Given the description of an element on the screen output the (x, y) to click on. 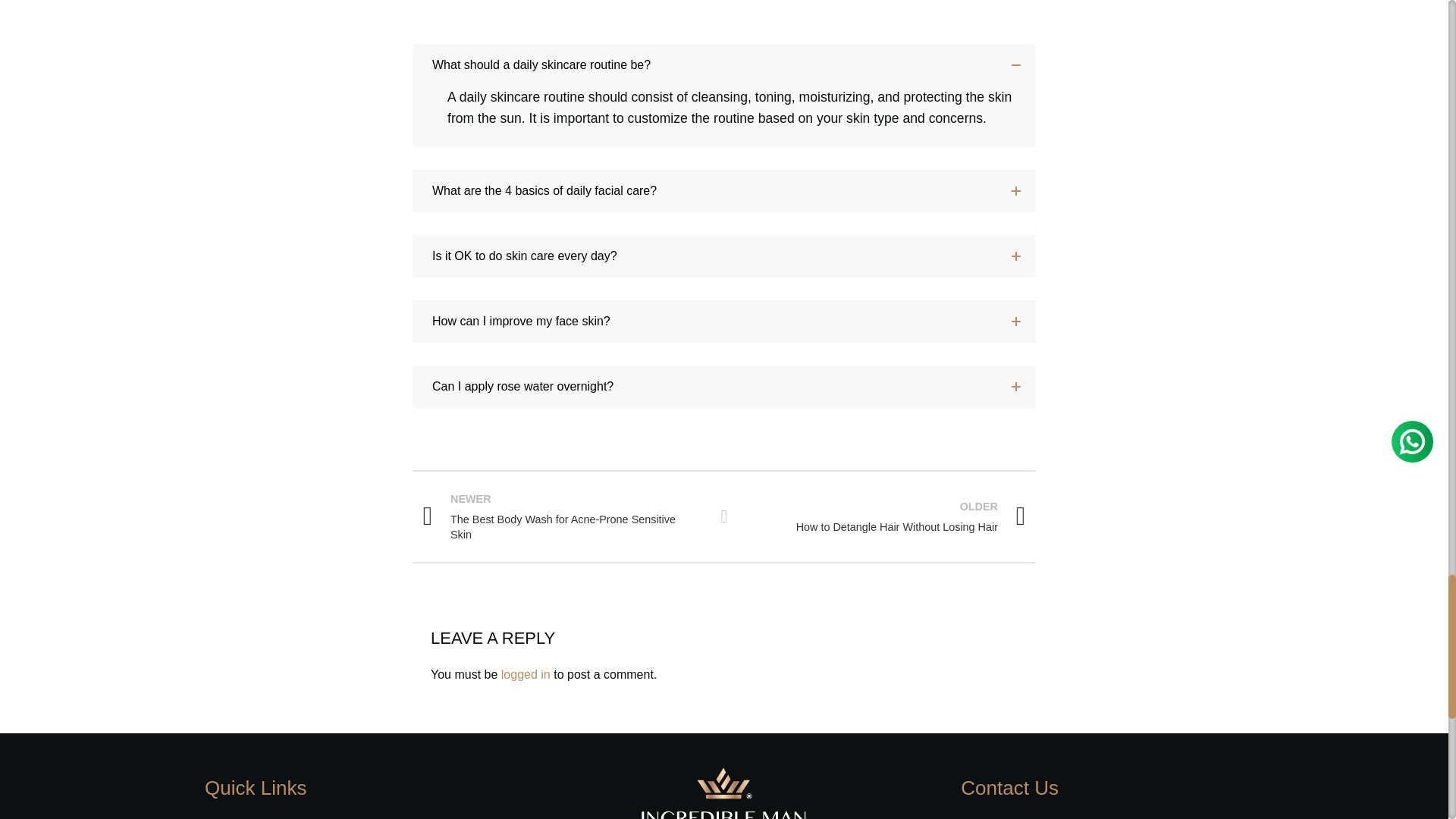
What are the 4 basics of daily facial care? (723, 190)
What should a daily skincare routine be? (723, 65)
How can I improve my face skin? (723, 321)
Is it OK to do skin care every day? (723, 256)
Can I apply rose water overnight? (723, 386)
